Given the description of an element on the screen output the (x, y) to click on. 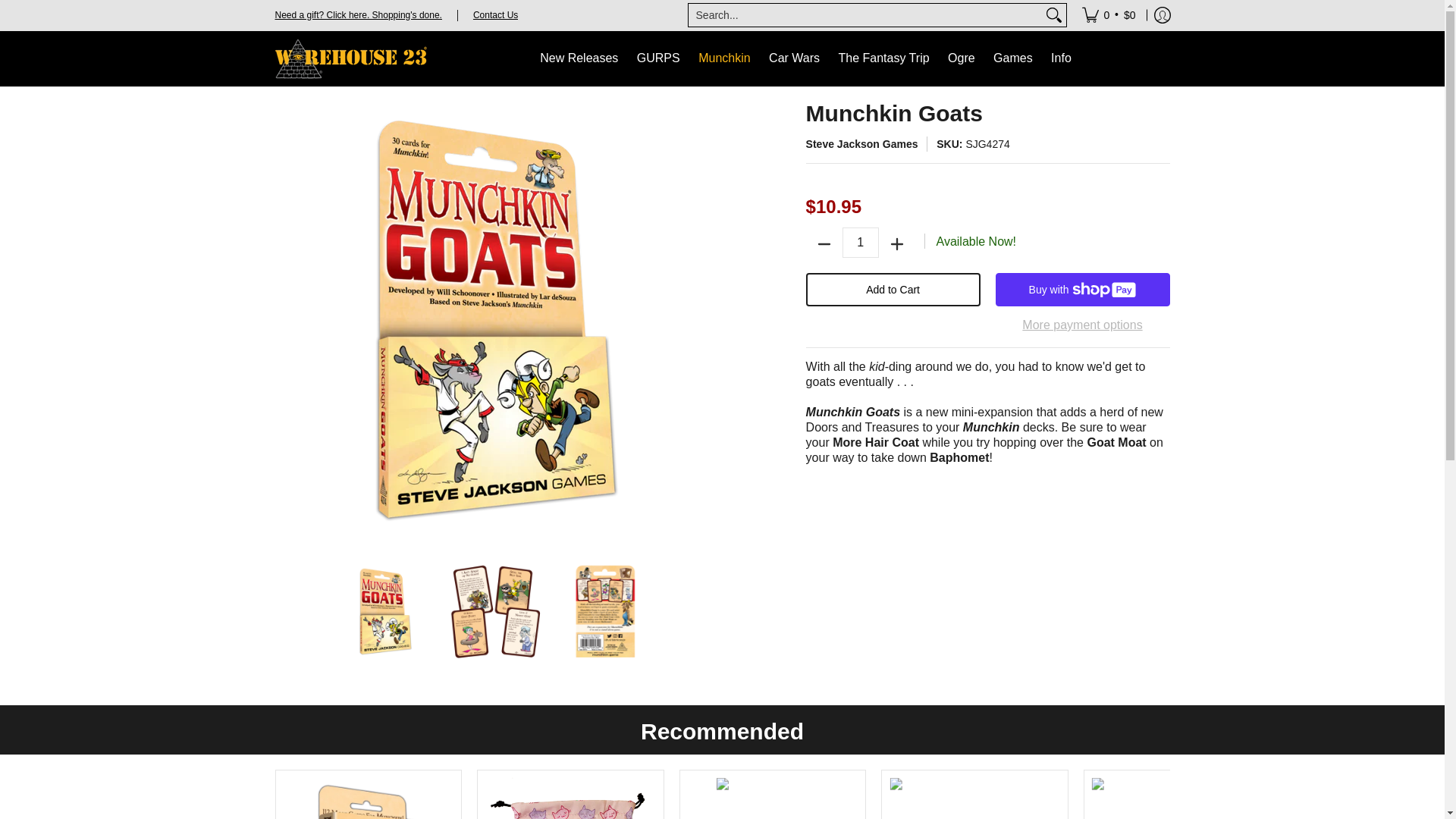
Munchkin (723, 58)
Munchkin (723, 58)
GURPS (657, 58)
Car Wars (794, 58)
The Fantasy Trip (884, 58)
Contact Us (495, 14)
GURPS (657, 58)
Games (1013, 58)
Warehouse 23 (350, 58)
Need a gift? Click here. Shopping's done. (358, 14)
